Given the description of an element on the screen output the (x, y) to click on. 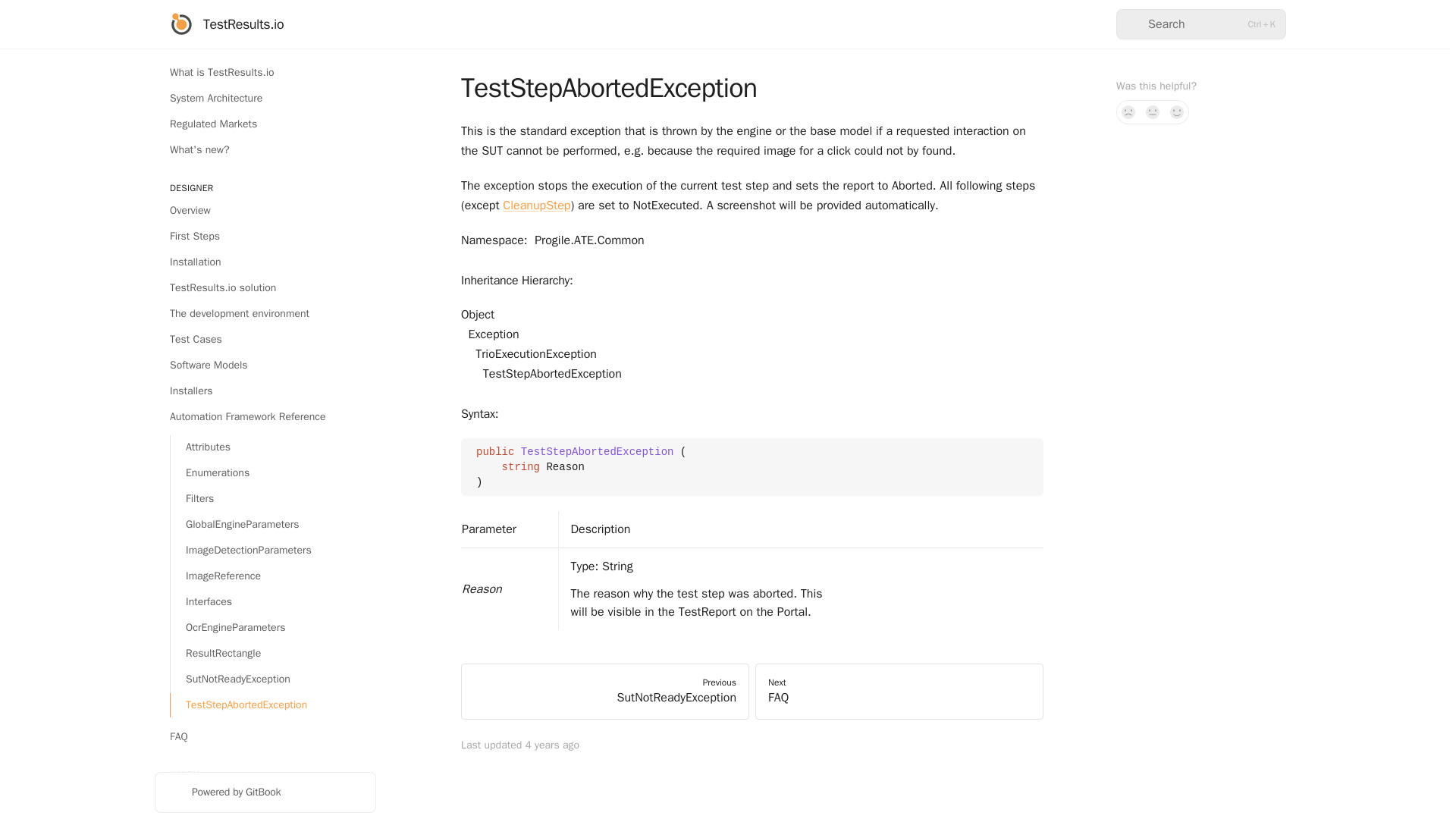
TestResults.io solution (264, 288)
Regulated Markets (264, 124)
Overview (264, 210)
TestResults.io (226, 24)
What is TestResults.io (264, 72)
The development environment (264, 313)
Yes, it was! (1176, 111)
First Steps (264, 236)
No (1128, 111)
Test Cases (264, 339)
